Given the description of an element on the screen output the (x, y) to click on. 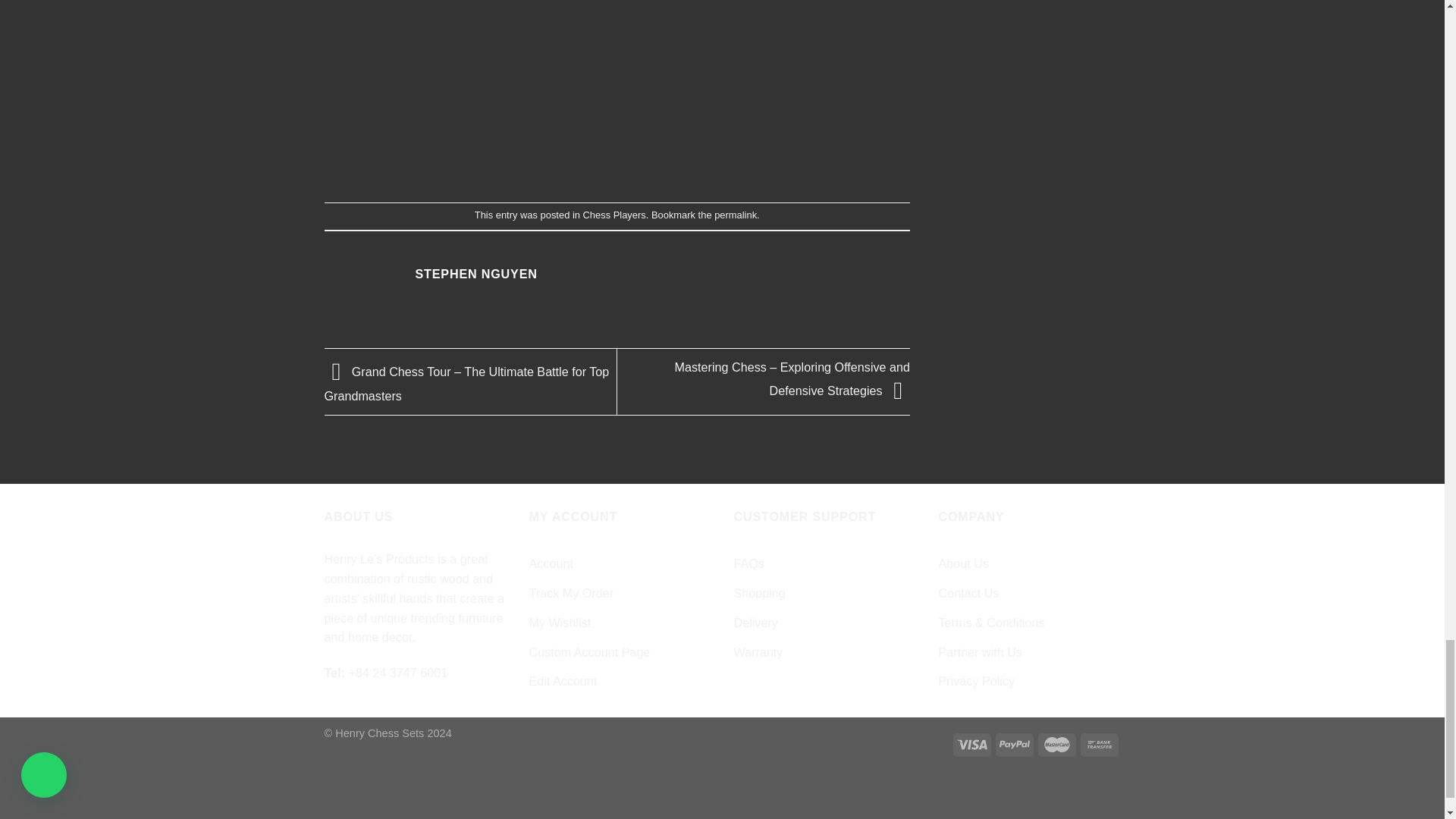
Chess Players (614, 214)
Bobby Fischer - Prodigious Chess Player 4 (617, 84)
permalink (735, 214)
